Given the description of an element on the screen output the (x, y) to click on. 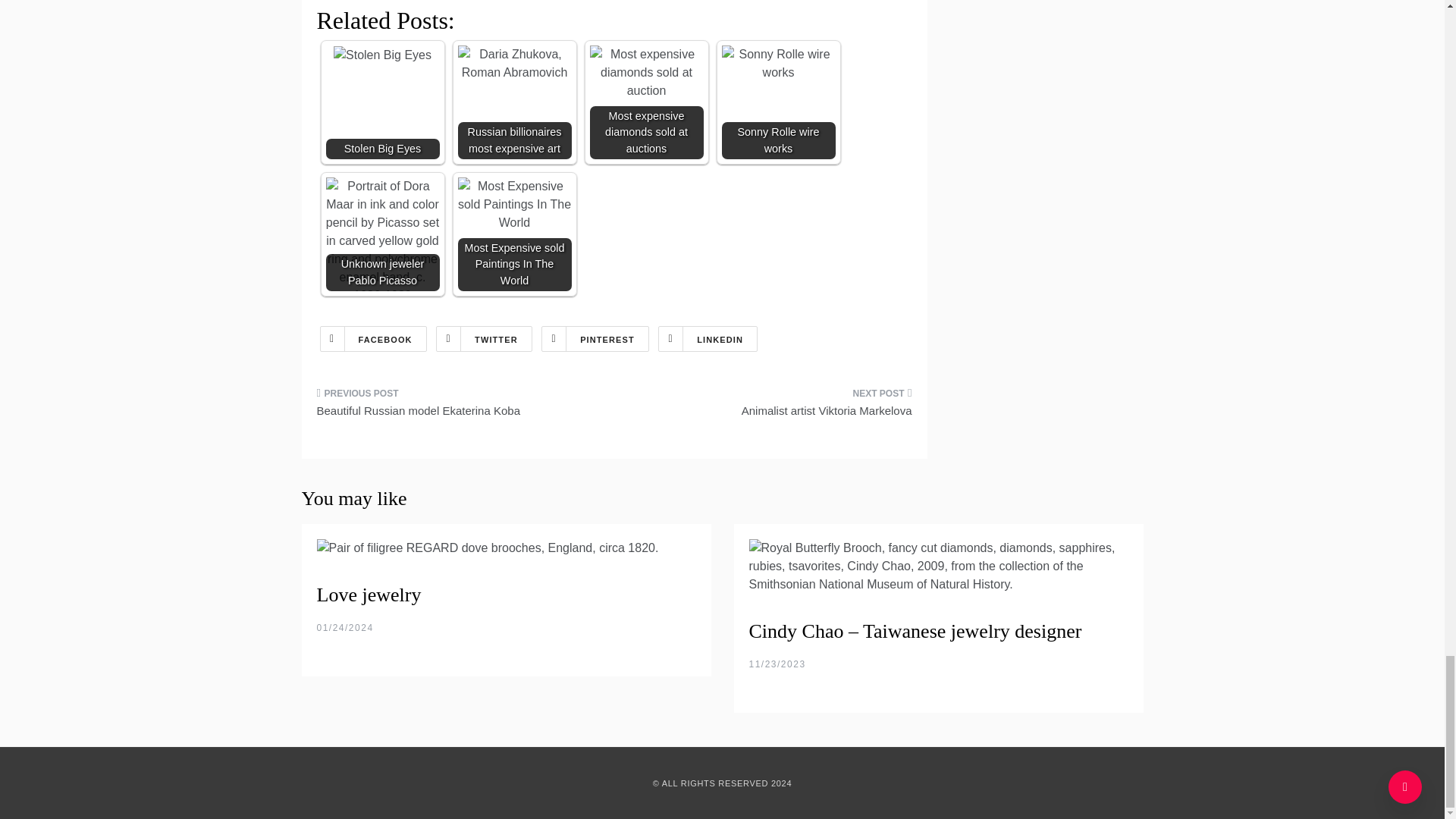
PINTEREST (595, 338)
LINKEDIN (707, 338)
TWITTER (483, 338)
Unknown jeweler Pablo Picasso (382, 234)
Russian billionaires most expensive art (515, 101)
Most expensive diamonds sold at auctions (646, 72)
Animalist artist Viktoria Markelova (769, 406)
Sonny Rolle wire works (778, 63)
Beautiful Russian model Ekaterina Koba (460, 406)
FACEBOOK (373, 338)
Stolen Big Eyes (382, 101)
Sonny Rolle wire works (778, 101)
Stolen Big Eyes (381, 54)
Love jewelry (369, 594)
Russian billionaires most expensive art (515, 63)
